Given the description of an element on the screen output the (x, y) to click on. 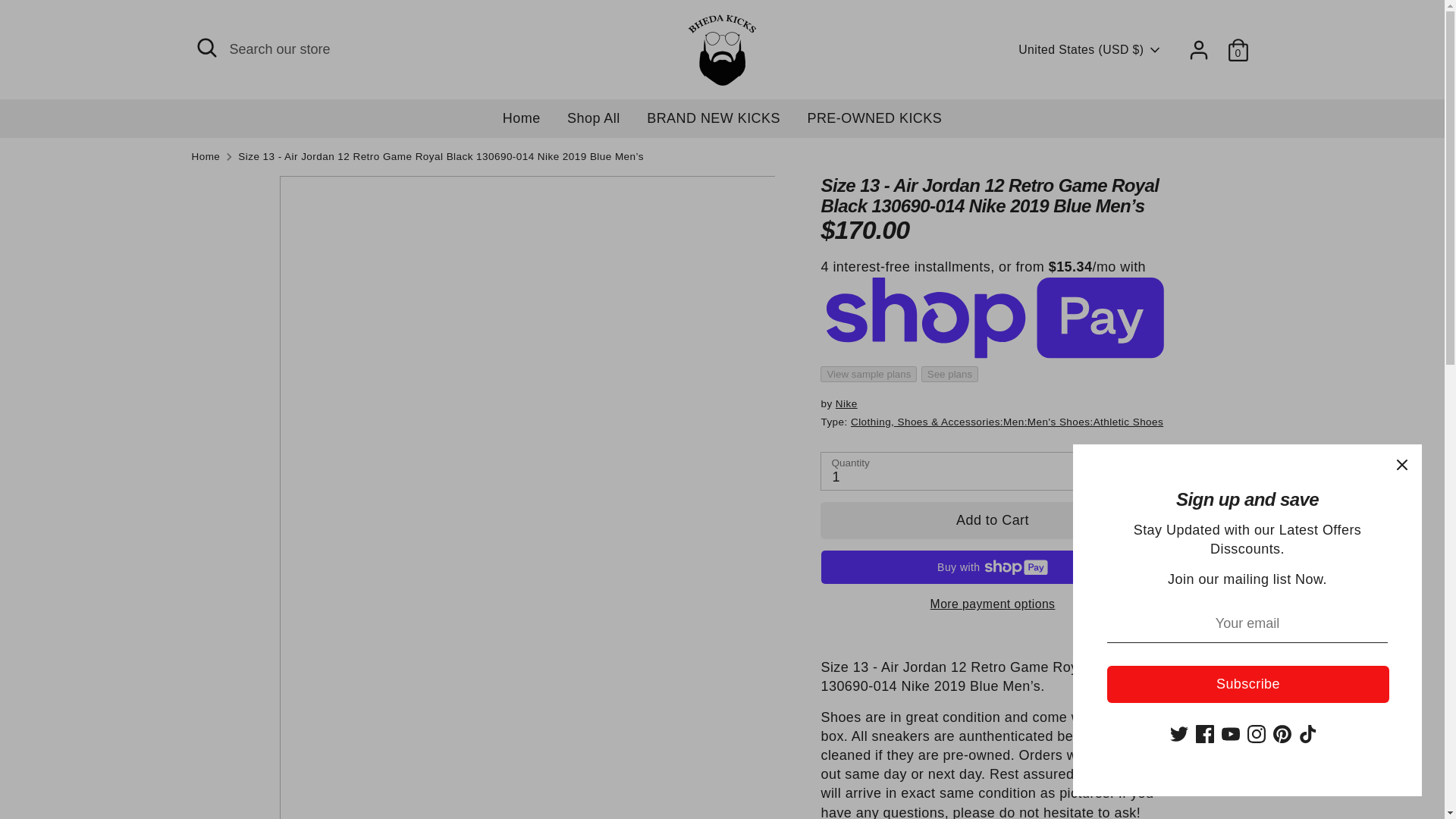
Apple Pay (963, 770)
American Express (932, 770)
Contact us. (684, 585)
